Given the description of an element on the screen output the (x, y) to click on. 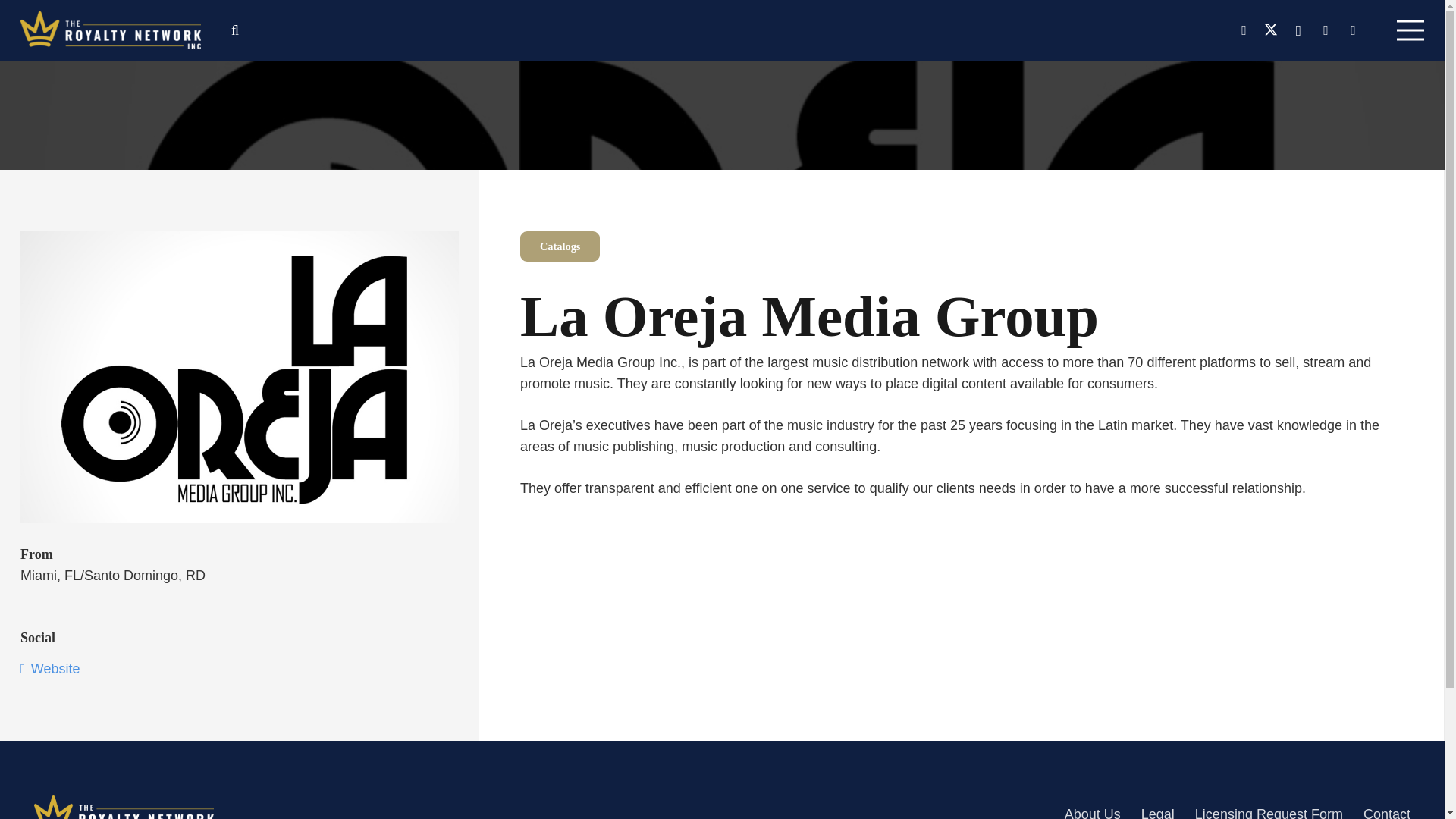
LinkedIn (1325, 30)
Twitter (1270, 30)
Instagram (1297, 30)
Facebook (1243, 30)
Spotify (1353, 30)
